Given the description of an element on the screen output the (x, y) to click on. 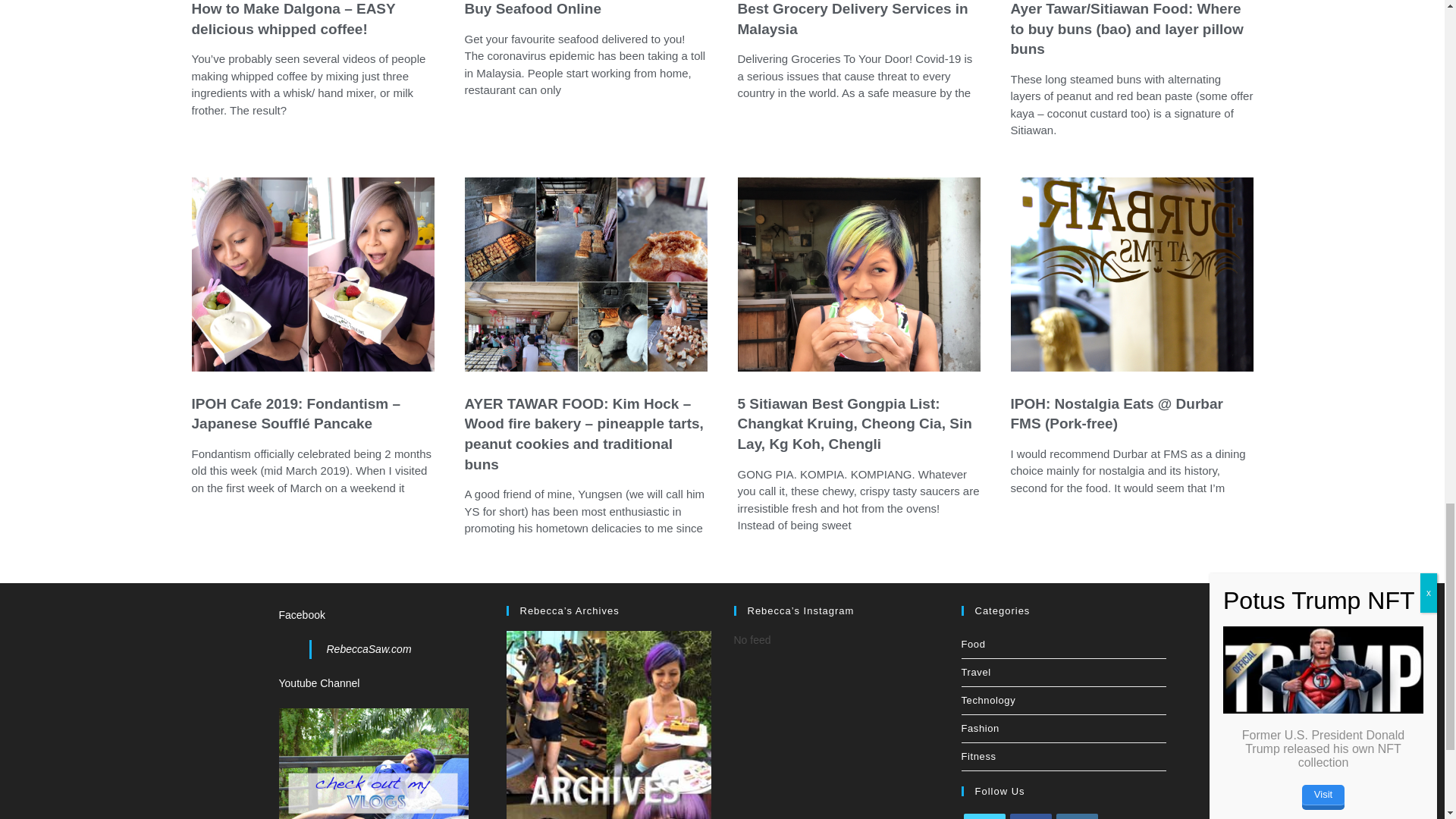
Buy Seafood Online (532, 8)
RebeccaSaw.com (368, 648)
rebecca's youtube (373, 783)
Best Grocery Delivery Services in Malaysia (852, 18)
Rebecca's Archives (608, 791)
